Given the description of an element on the screen output the (x, y) to click on. 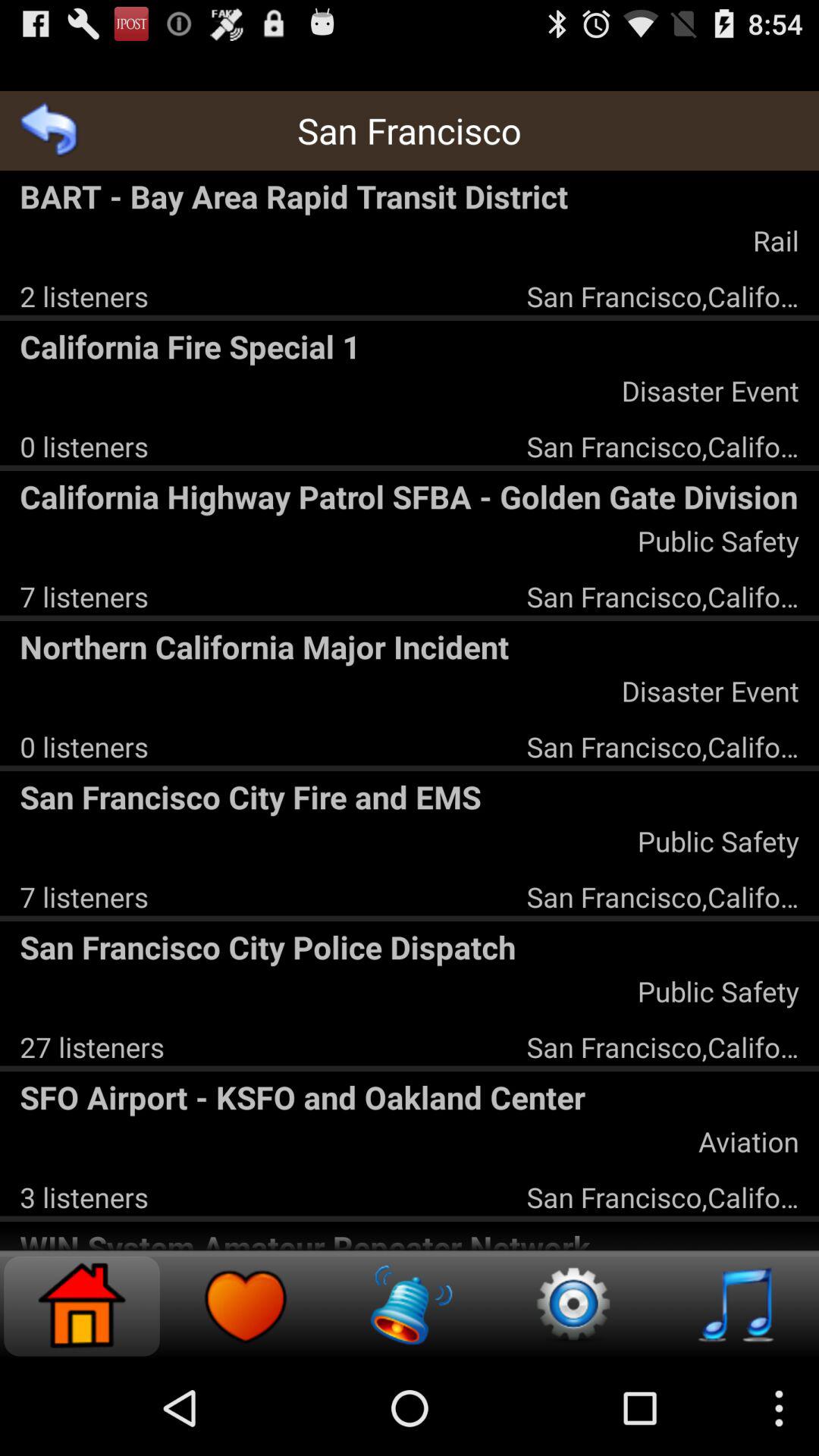
launch item to the left of san francisco,california item (83, 296)
